Given the description of an element on the screen output the (x, y) to click on. 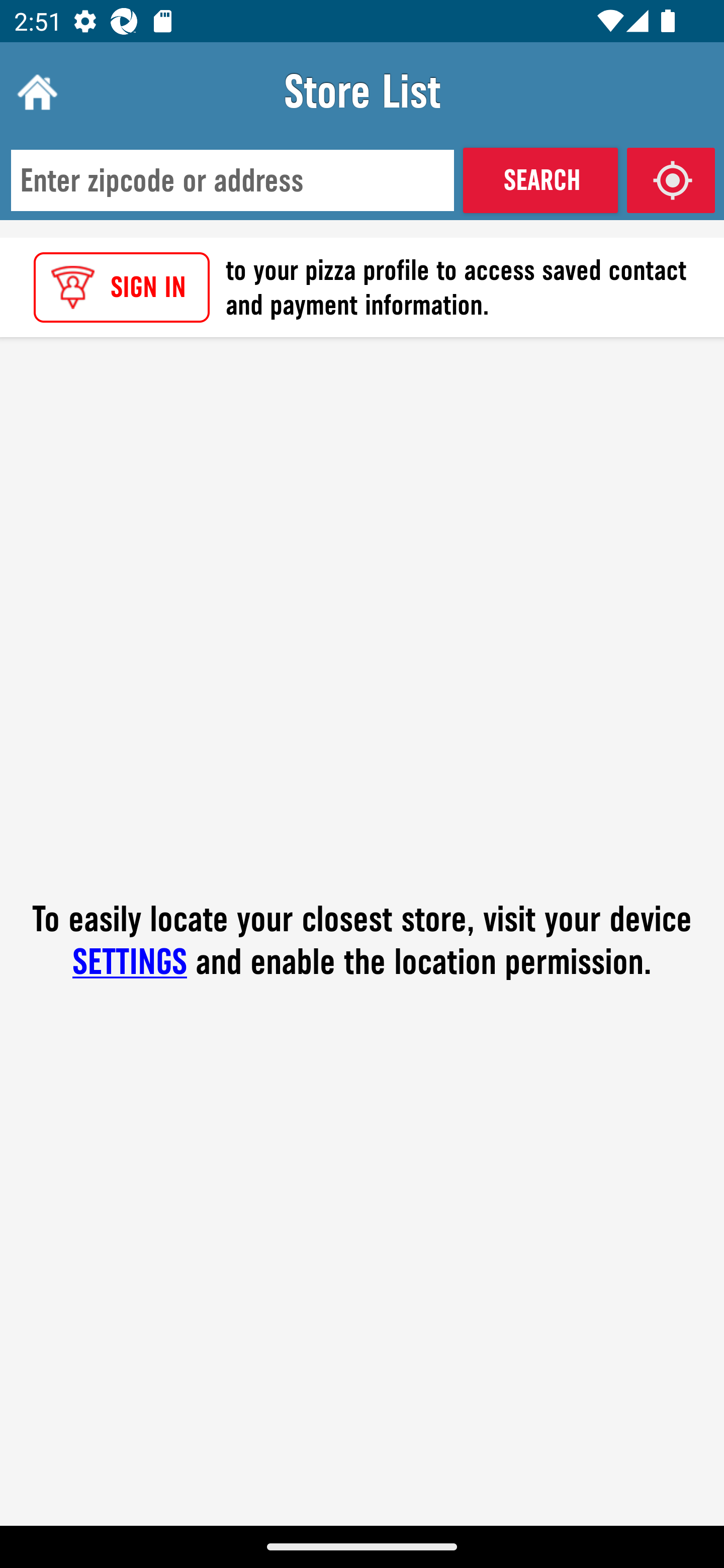
Home (35, 91)
SEARCH (540, 180)
Use Current Location (670, 180)
Enter zipcode or address (231, 180)
SIGN IN (121, 287)
